Given the description of an element on the screen output the (x, y) to click on. 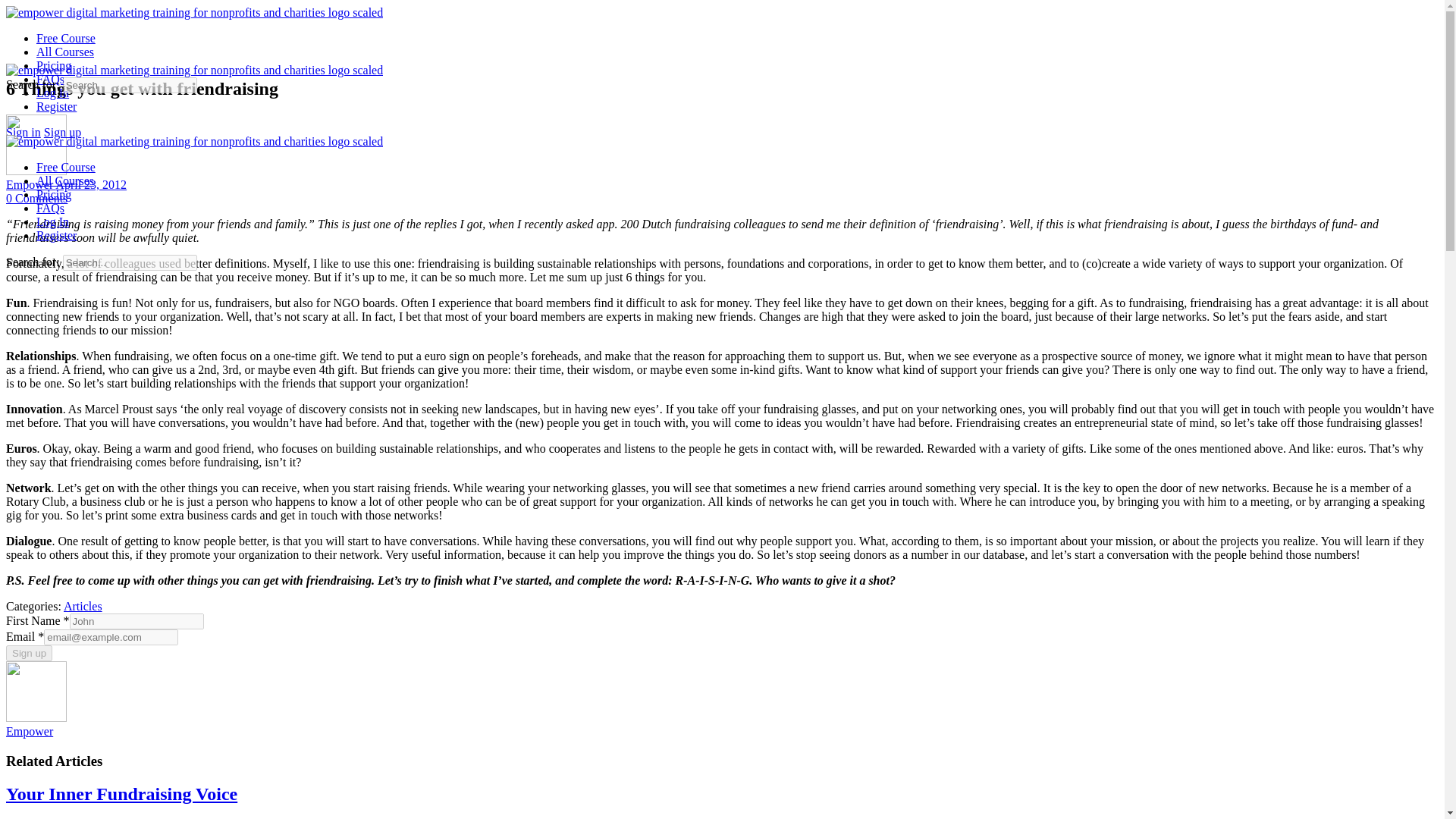
Sign up (28, 652)
Sign in (22, 132)
Register (56, 235)
Empower (28, 730)
Log In (52, 221)
FAQs (50, 78)
Articles (82, 605)
All Courses (65, 51)
Pricing (53, 194)
FAQs (50, 207)
Log In (52, 92)
Free Course (66, 166)
Register (56, 106)
Do not include numbers or special characters. (136, 621)
Pricing (53, 65)
